Given the description of an element on the screen output the (x, y) to click on. 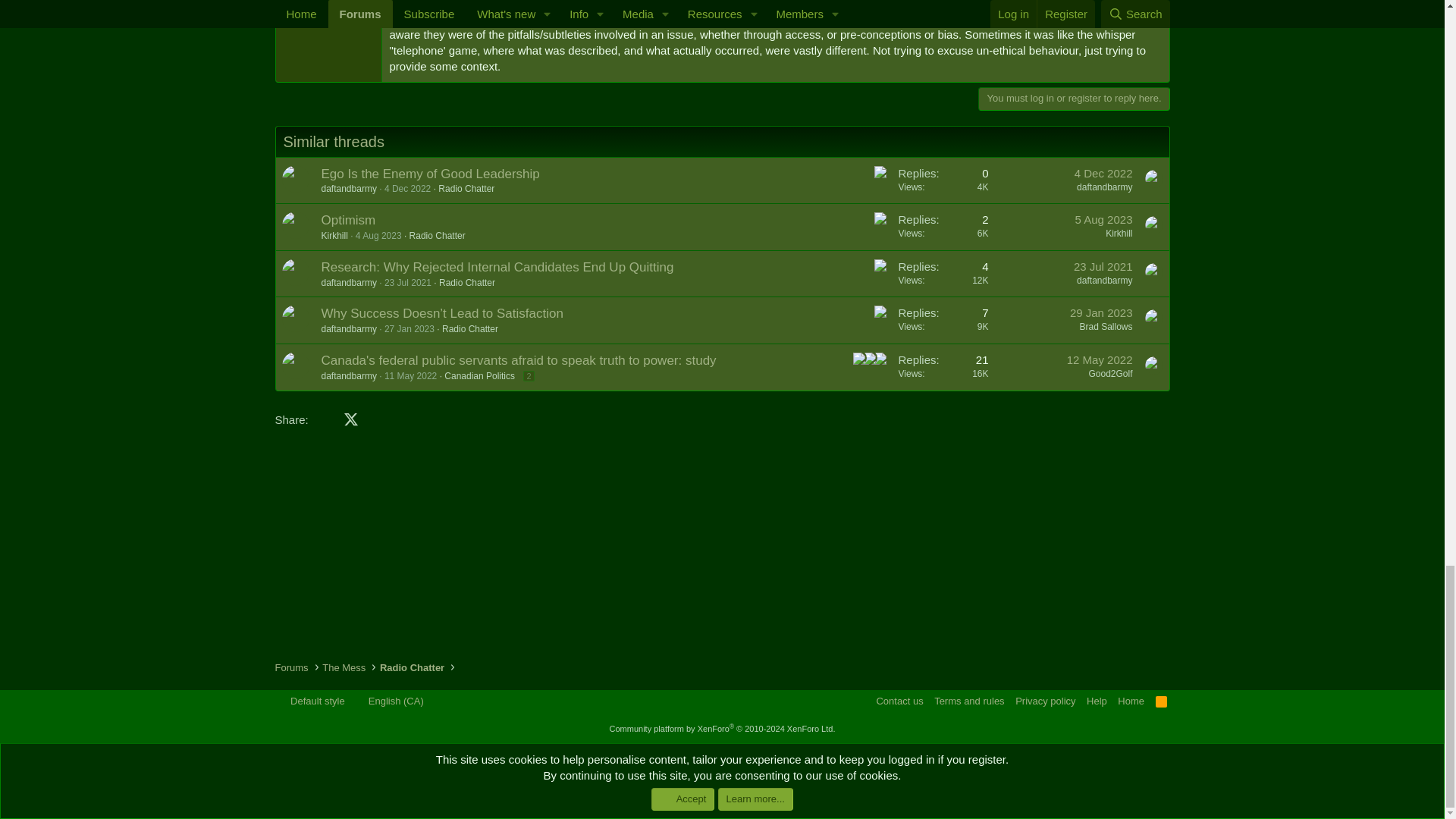
4 Dec 2022 at 18:28 (407, 188)
First message reaction score: 3 (942, 180)
Like (879, 172)
4 Dec 2022 at 18:28 (1103, 173)
